Given the description of an element on the screen output the (x, y) to click on. 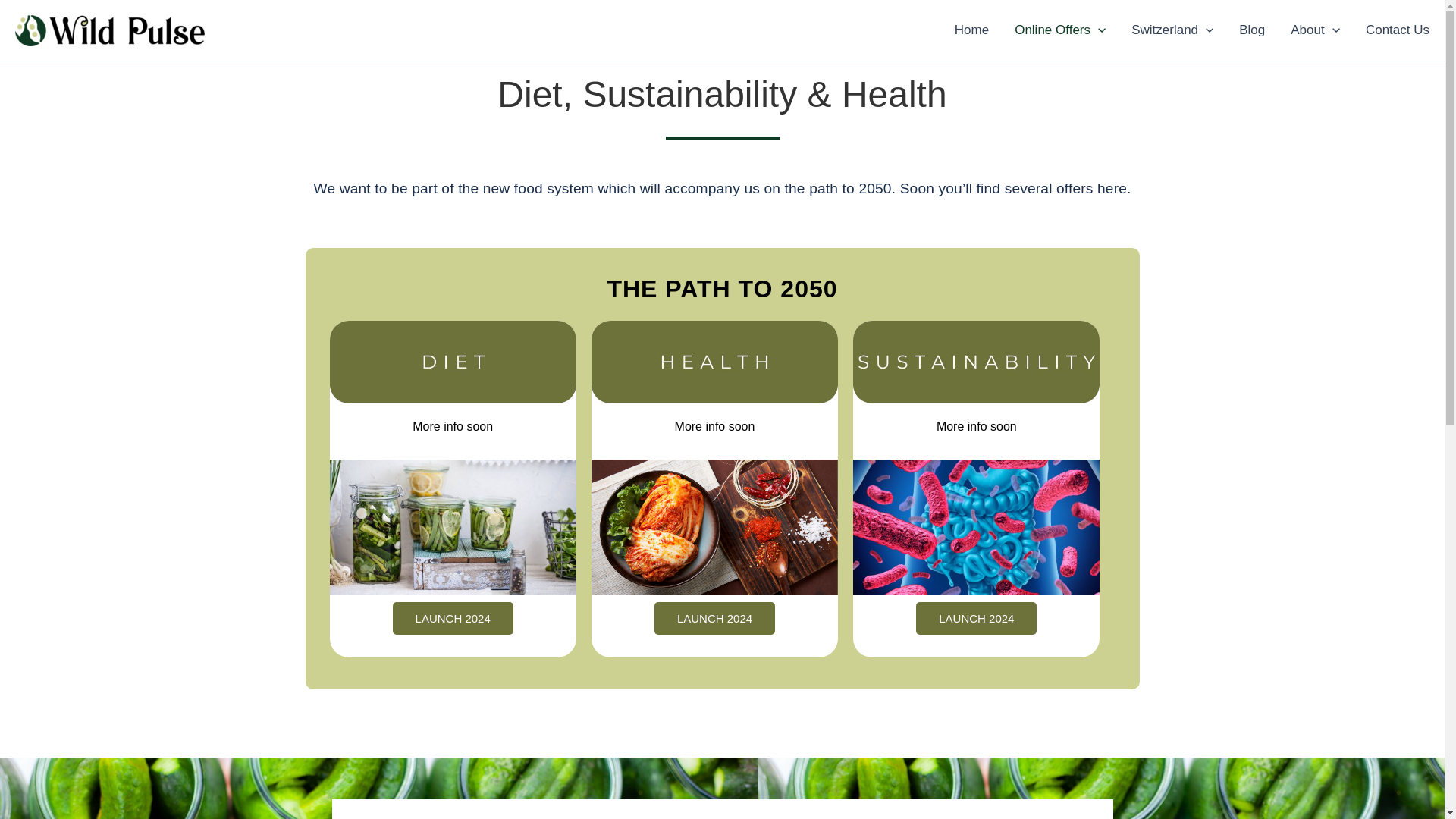
Contact Us (1390, 30)
Online Offers (1059, 30)
LAUNCH 2024 (453, 617)
About (1315, 30)
Home (971, 30)
drinks-single2 (976, 361)
LAUNCH 2024 (975, 617)
LAUNCH 2024 (713, 617)
Switzerland (1171, 30)
